Given the description of an element on the screen output the (x, y) to click on. 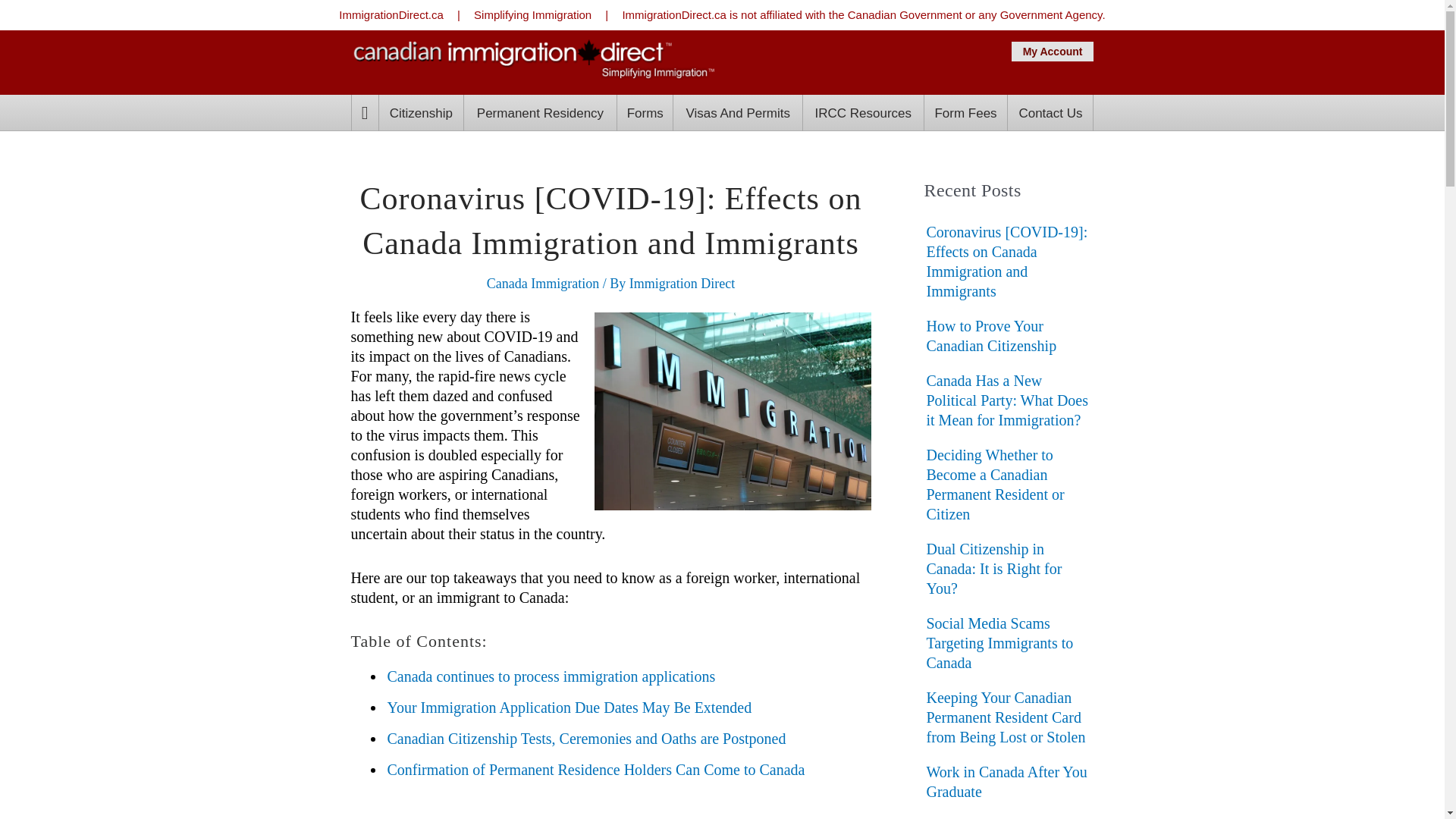
Visas And Permits (737, 113)
Citizenship (420, 113)
My Account (1052, 51)
IRCC Resources (863, 113)
ImmigrationDirect (532, 59)
Forms (644, 113)
Permanent Residency (539, 113)
View all posts by Immigration Direct (681, 283)
